Given the description of an element on the screen output the (x, y) to click on. 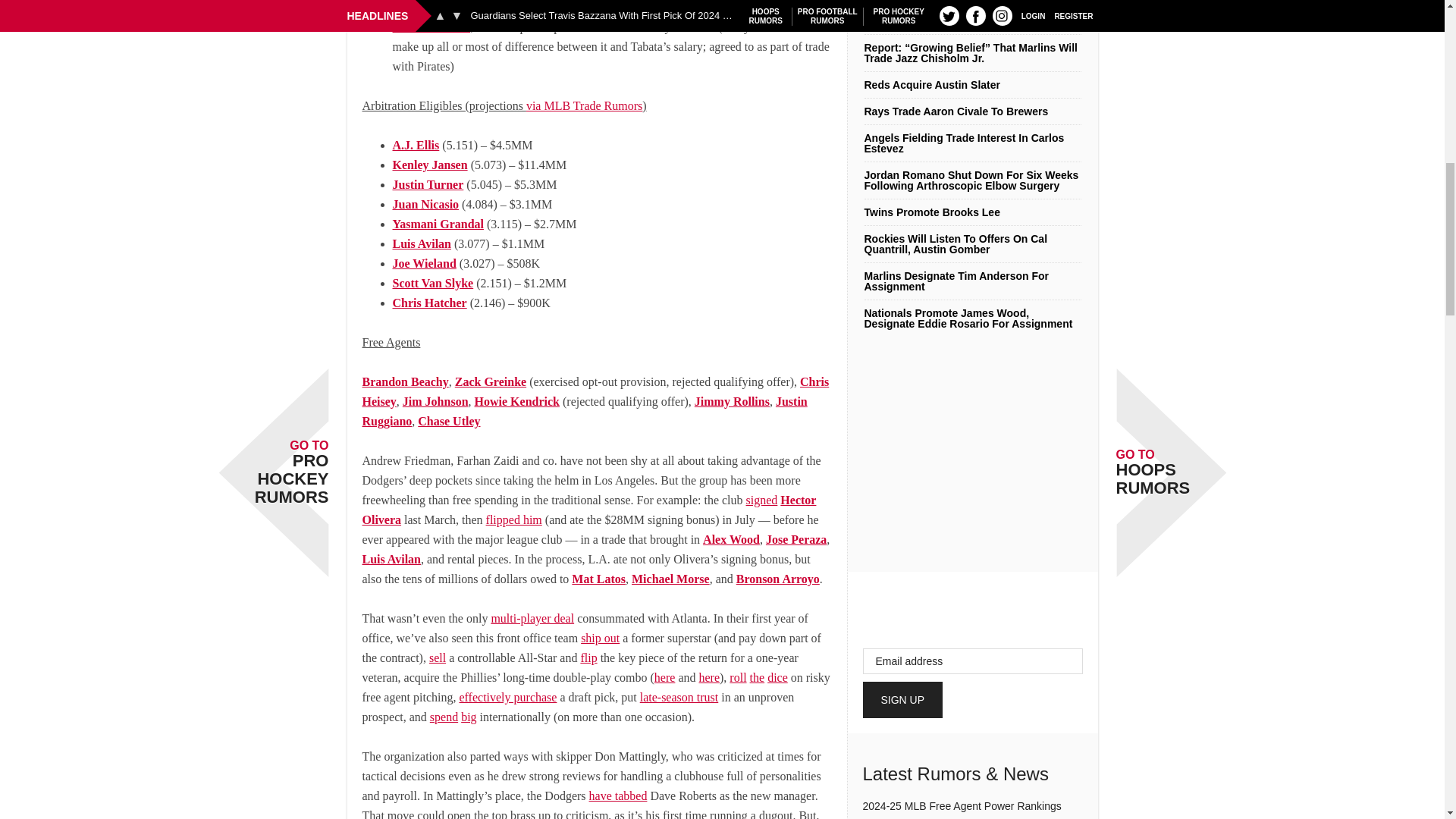
Sign Up (903, 699)
